Given the description of an element on the screen output the (x, y) to click on. 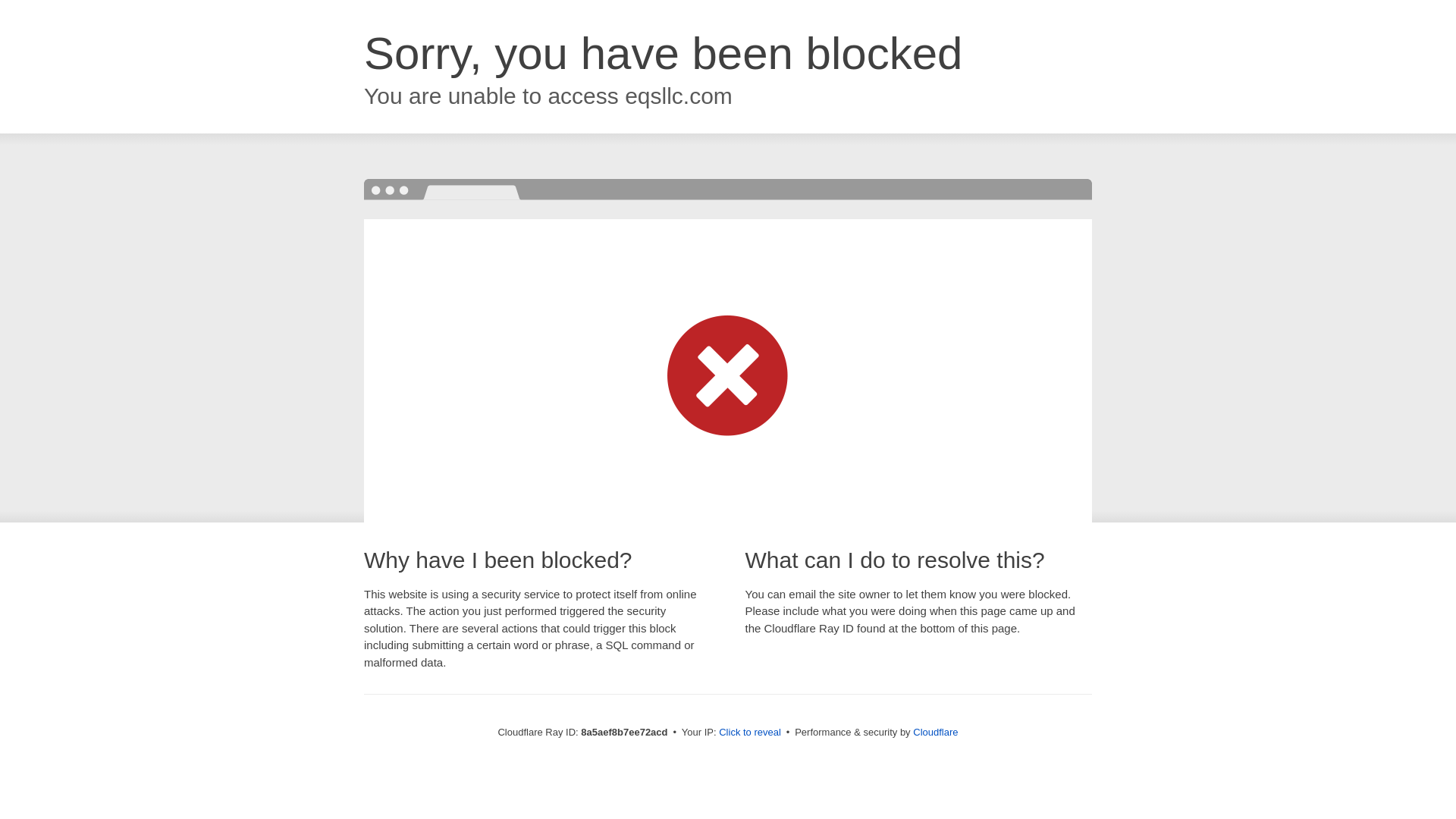
Cloudflare (935, 731)
Click to reveal (749, 732)
